Given the description of an element on the screen output the (x, y) to click on. 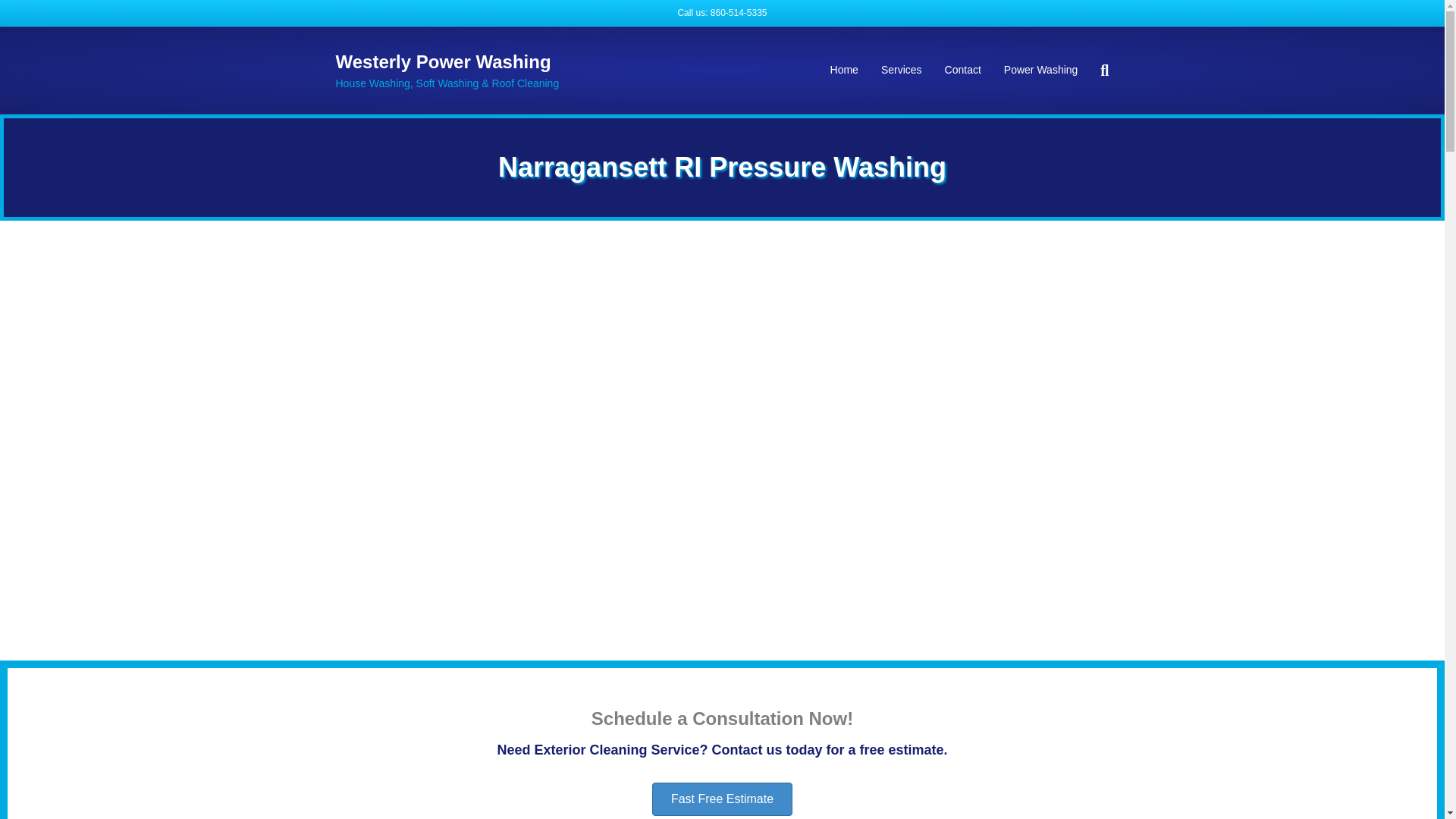
Contact (962, 70)
Westerly Power Washing (457, 62)
Power Washing (1040, 70)
Home (843, 70)
Services (901, 70)
